Given the description of an element on the screen output the (x, y) to click on. 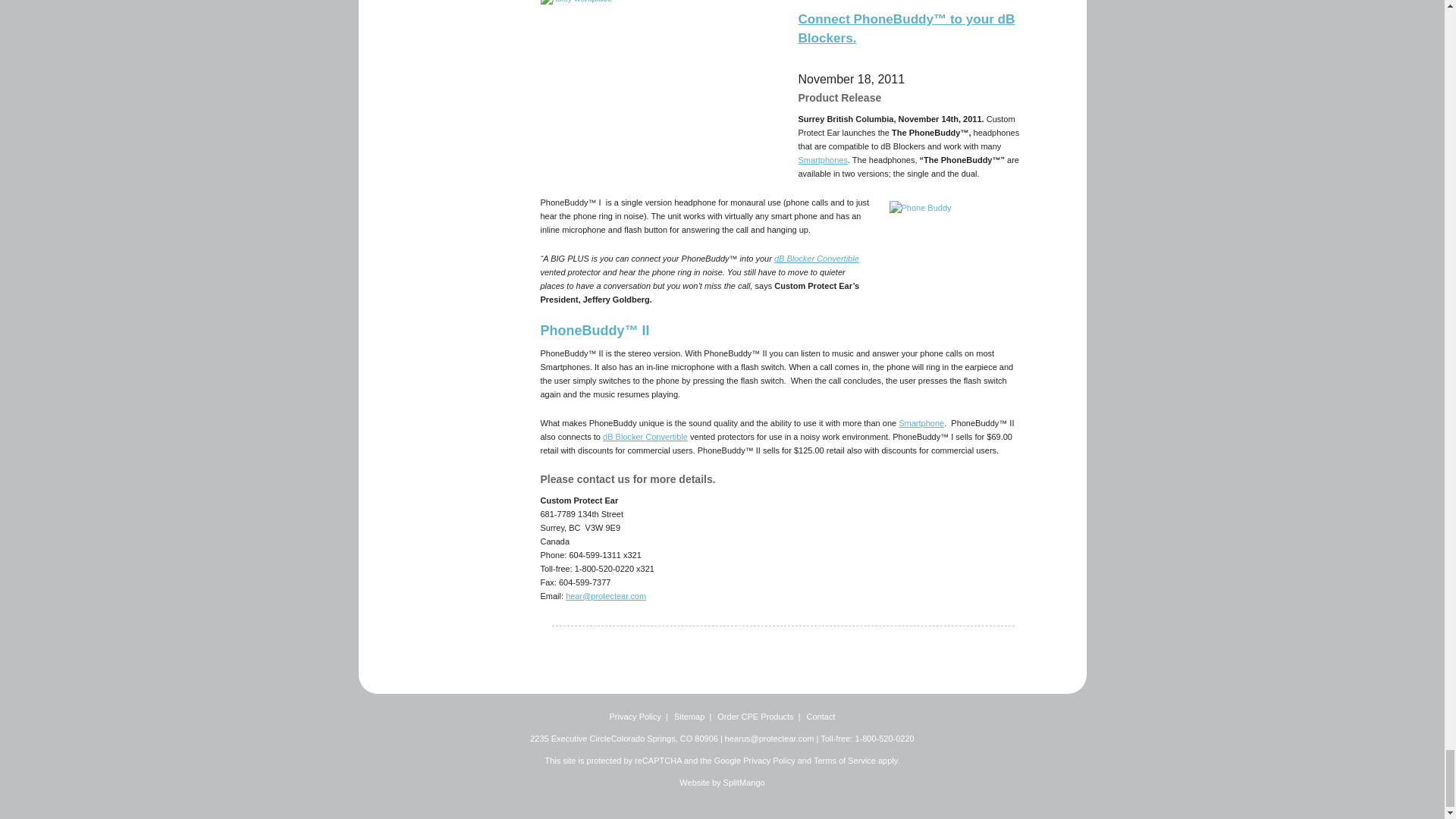
Noisy workplace (659, 88)
Phone Buddy  (956, 245)
